Given the description of an element on the screen output the (x, y) to click on. 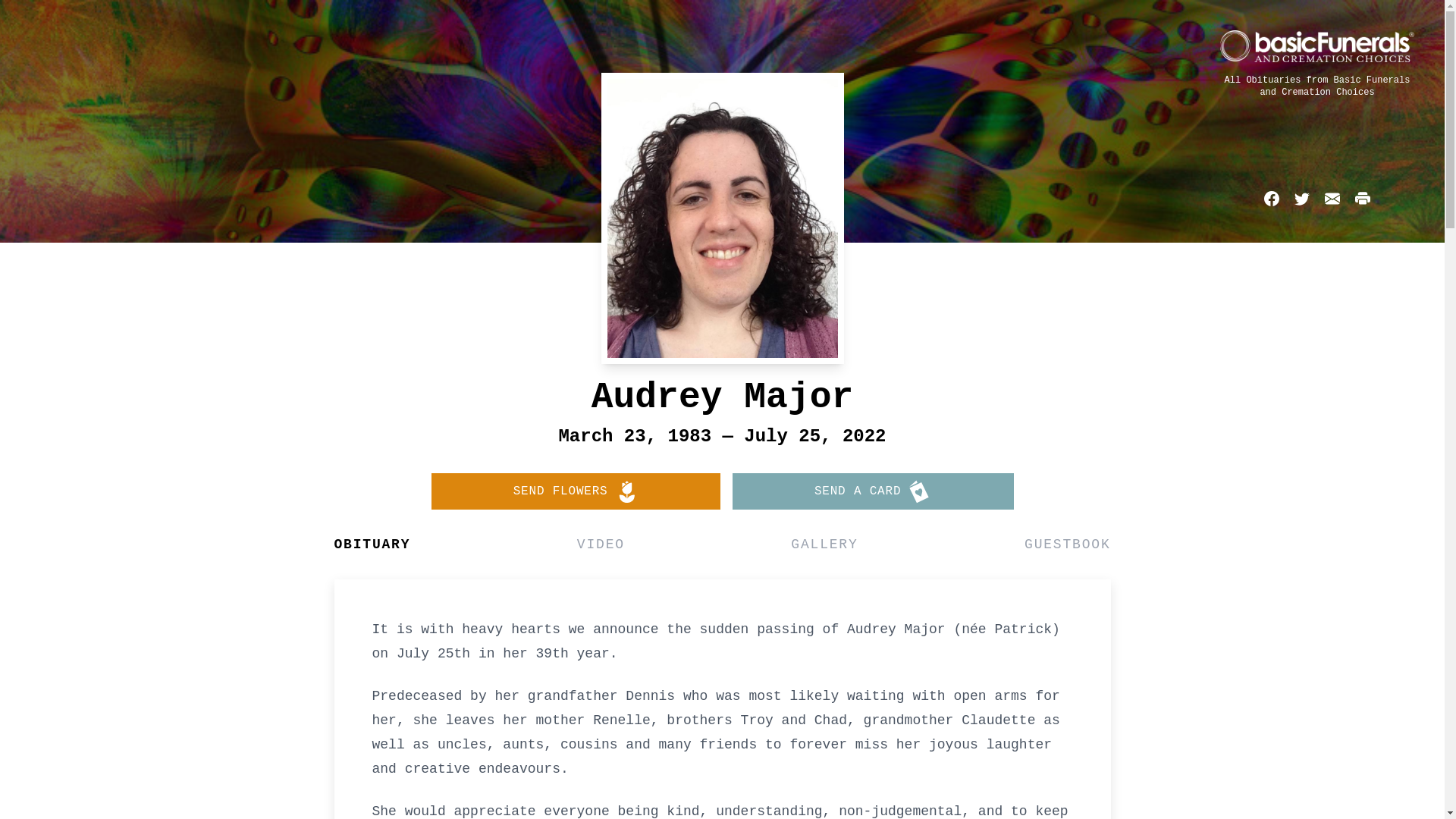
SEND A CARD Element type: text (872, 491)
SEND FLOWERS Element type: text (574, 491)
All Obituaries from Basic Funerals and Cremation Choices Element type: text (1317, 86)
GALLERY Element type: text (823, 544)
GUESTBOOK Element type: text (1067, 544)
VIDEO Element type: text (600, 544)
OBITUARY Element type: text (371, 544)
